Given the description of an element on the screen output the (x, y) to click on. 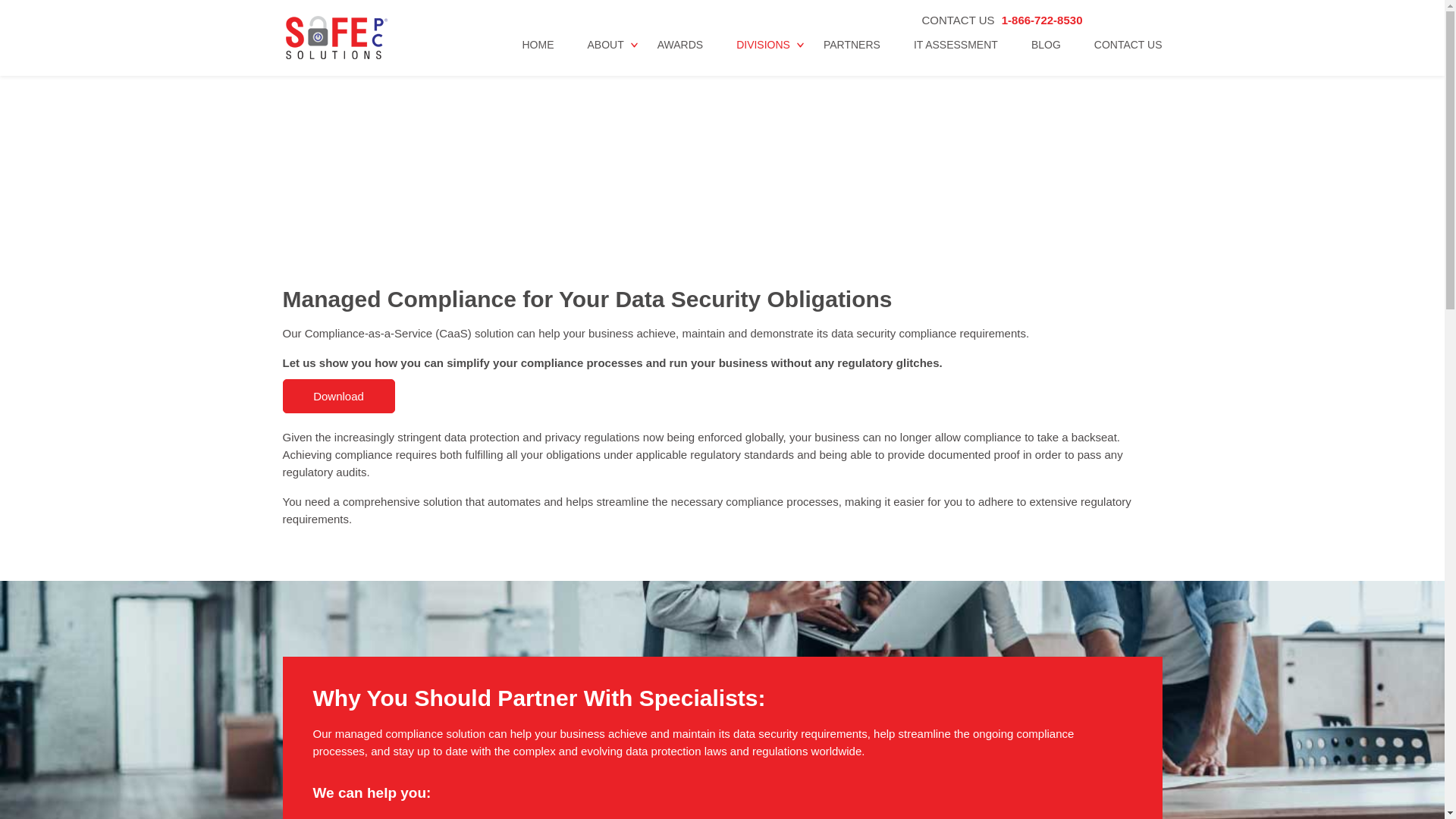
IT ASSESSMENT (955, 55)
PARTNERS (852, 55)
AWARDS (680, 55)
CONTACT US (1127, 55)
DIVISIONS (763, 55)
Download (338, 396)
